Given the description of an element on the screen output the (x, y) to click on. 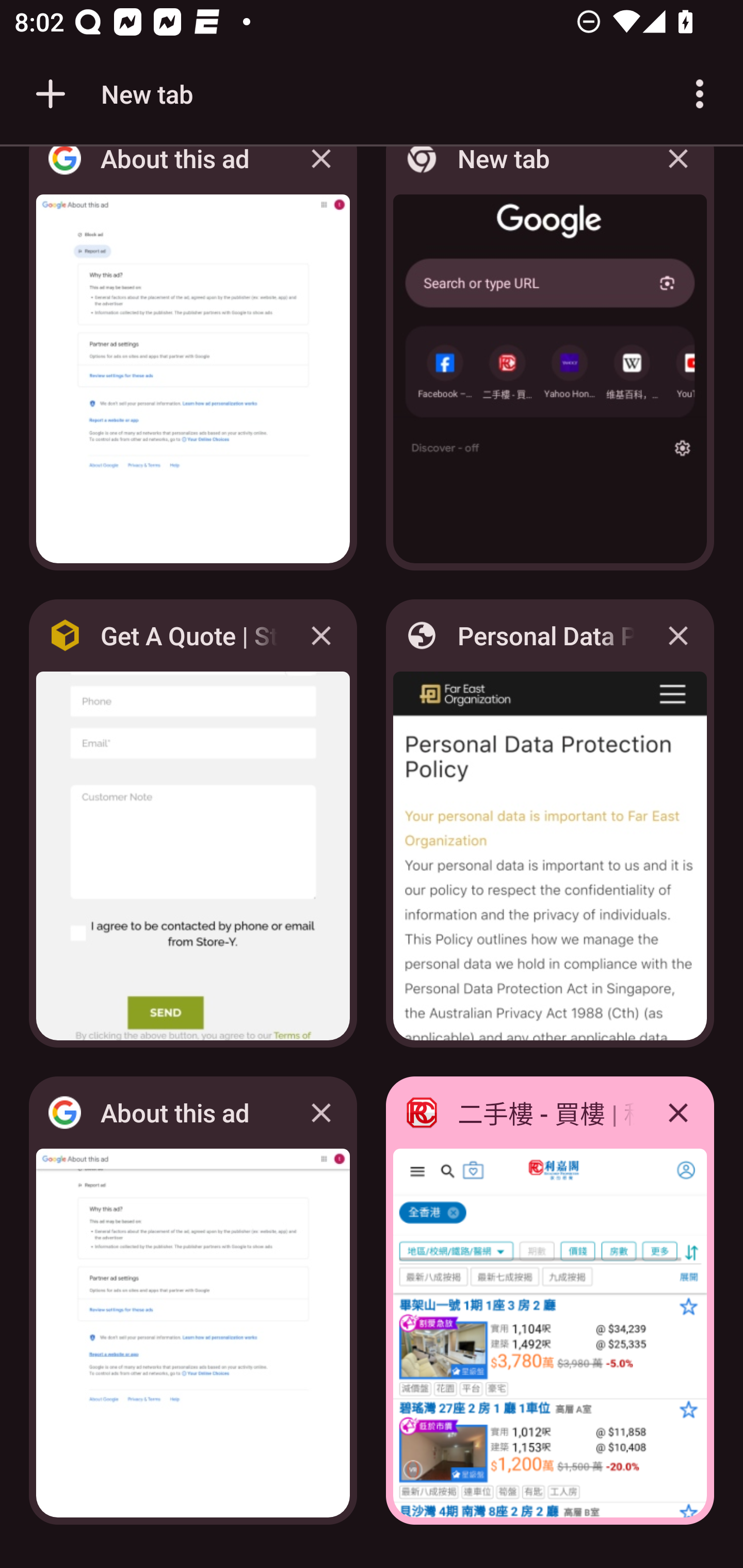
New tab (111, 93)
Customize and control Google Chrome (699, 93)
Close About this ad tab (320, 173)
New tab New tab, tab Close New tab tab (549, 364)
Close New tab tab (677, 173)
Close Get A Quote | Store-Y Self Storage tab (320, 635)
Close Personal Data Protection Policy tab (677, 635)
Close About this ad tab (320, 1112)
Close 二手樓 - 買樓 | 租樓 | 搵樓 - 真盤源 - 利嘉閣地產有限公司 tab (677, 1112)
